Given the description of an element on the screen output the (x, y) to click on. 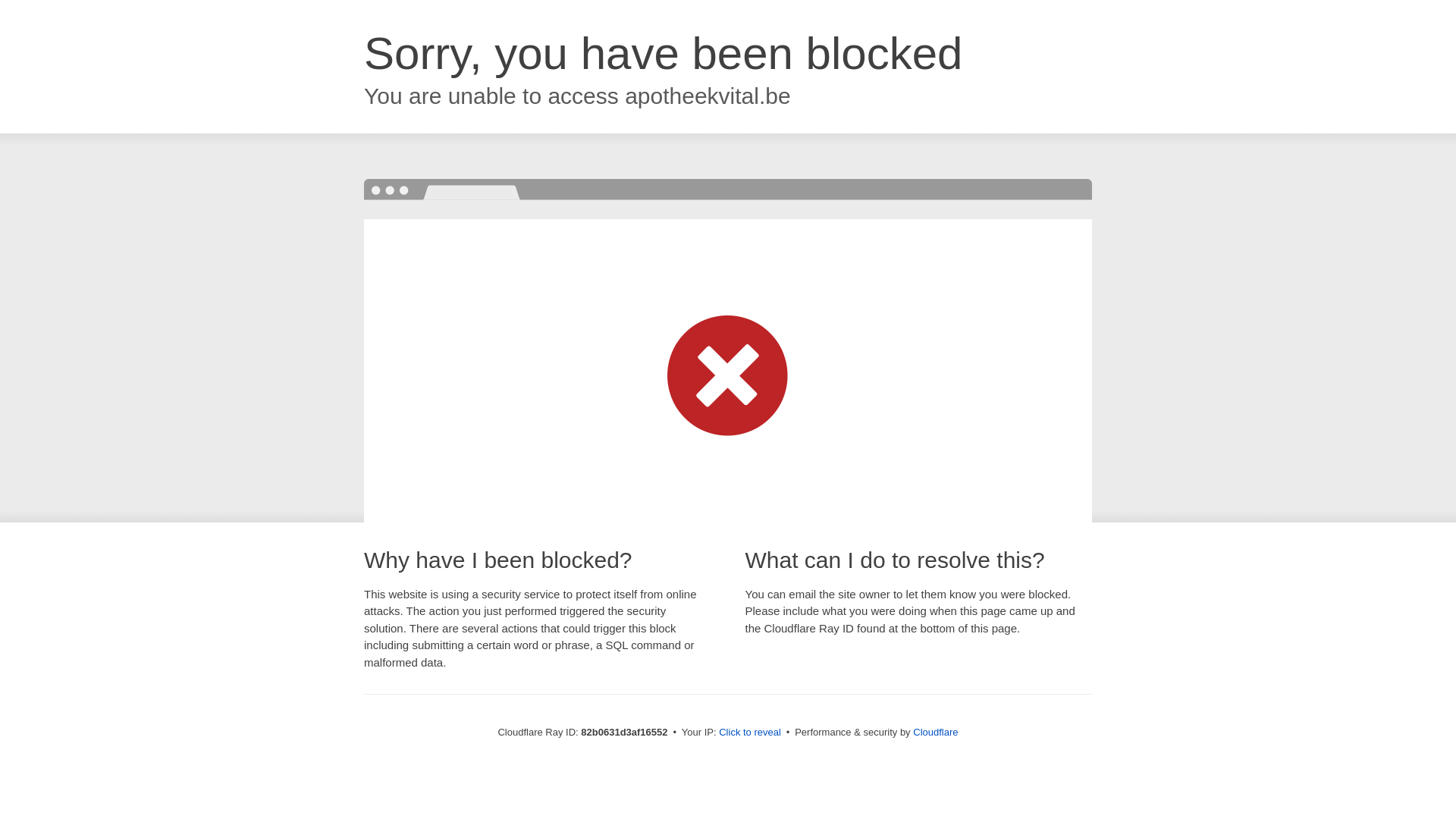
Cloudflare Element type: text (935, 731)
Click to reveal Element type: text (749, 732)
